Given the description of an element on the screen output the (x, y) to click on. 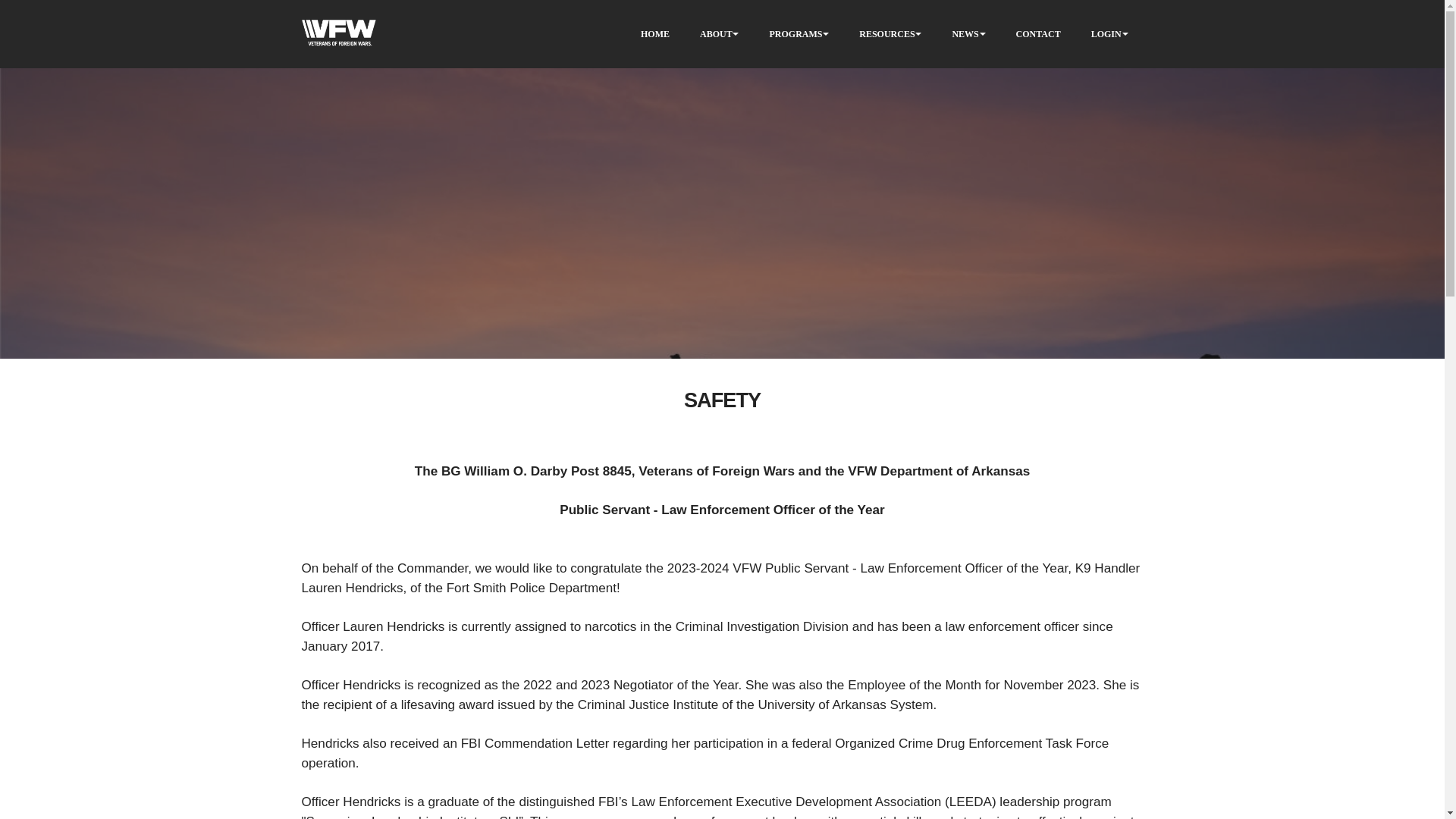
NEWS (965, 33)
PROGRAMS (795, 33)
ABOUT (716, 33)
Veterans of Foreign Wars (338, 34)
HOME (654, 33)
RESOURCES (886, 33)
